Given the description of an element on the screen output the (x, y) to click on. 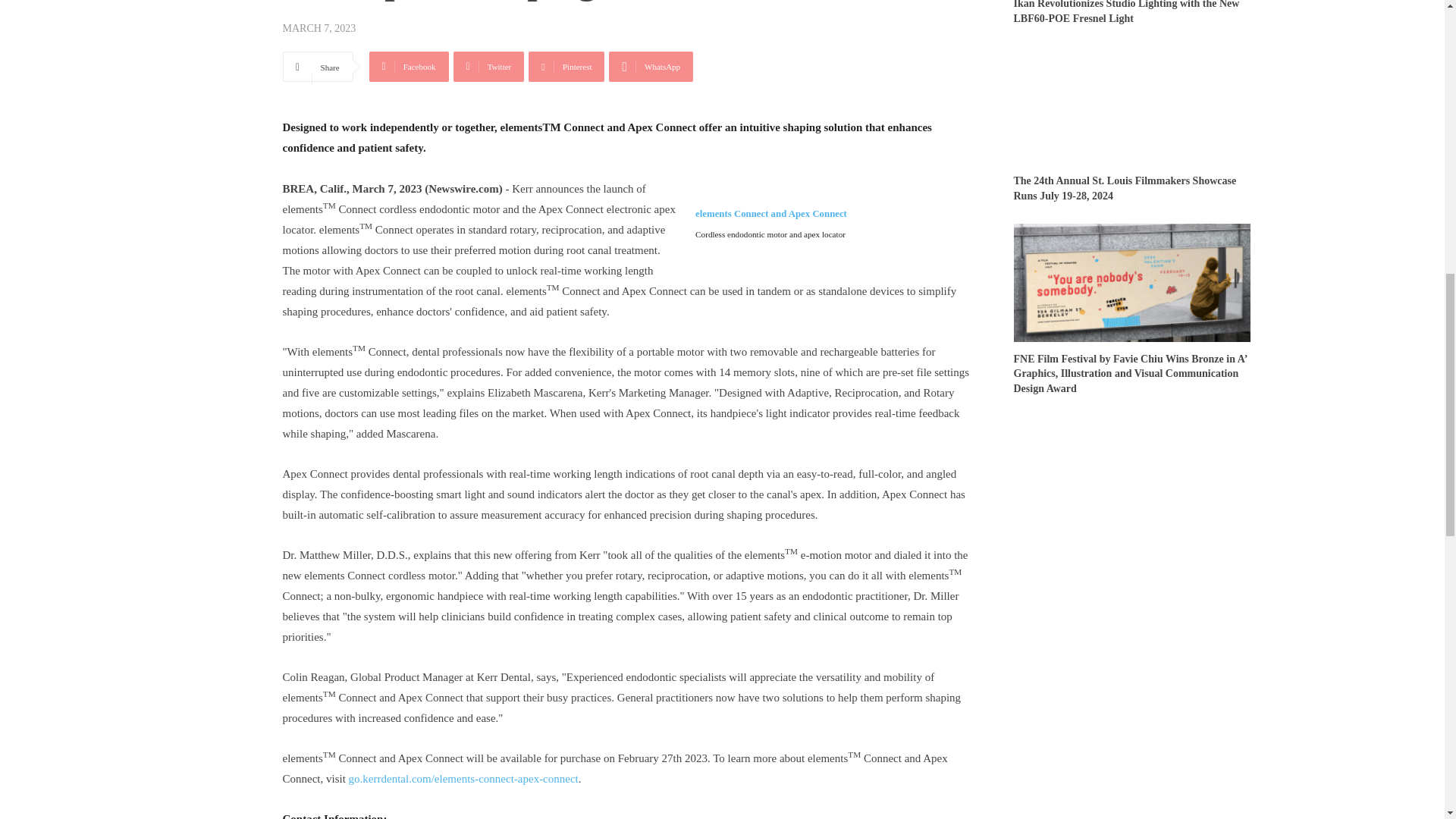
Twitter (488, 66)
Twitter (488, 66)
WhatsApp (650, 66)
Pinterest (566, 66)
Facebook (408, 66)
elements Connect and Apex Connect (771, 223)
Pinterest (566, 66)
Facebook (408, 66)
WhatsApp (650, 66)
